Given the description of an element on the screen output the (x, y) to click on. 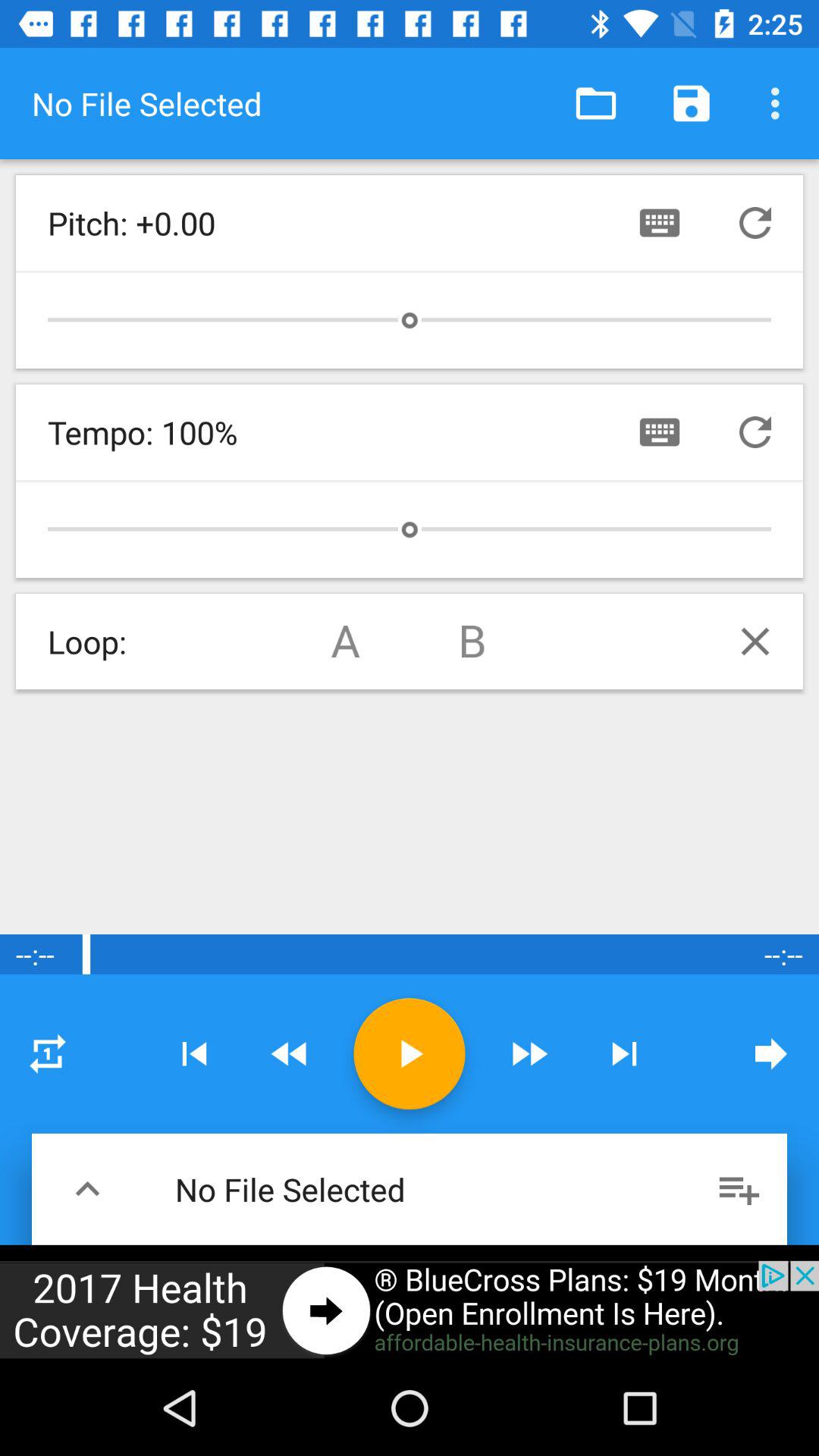
play again (47, 1053)
